Given the description of an element on the screen output the (x, y) to click on. 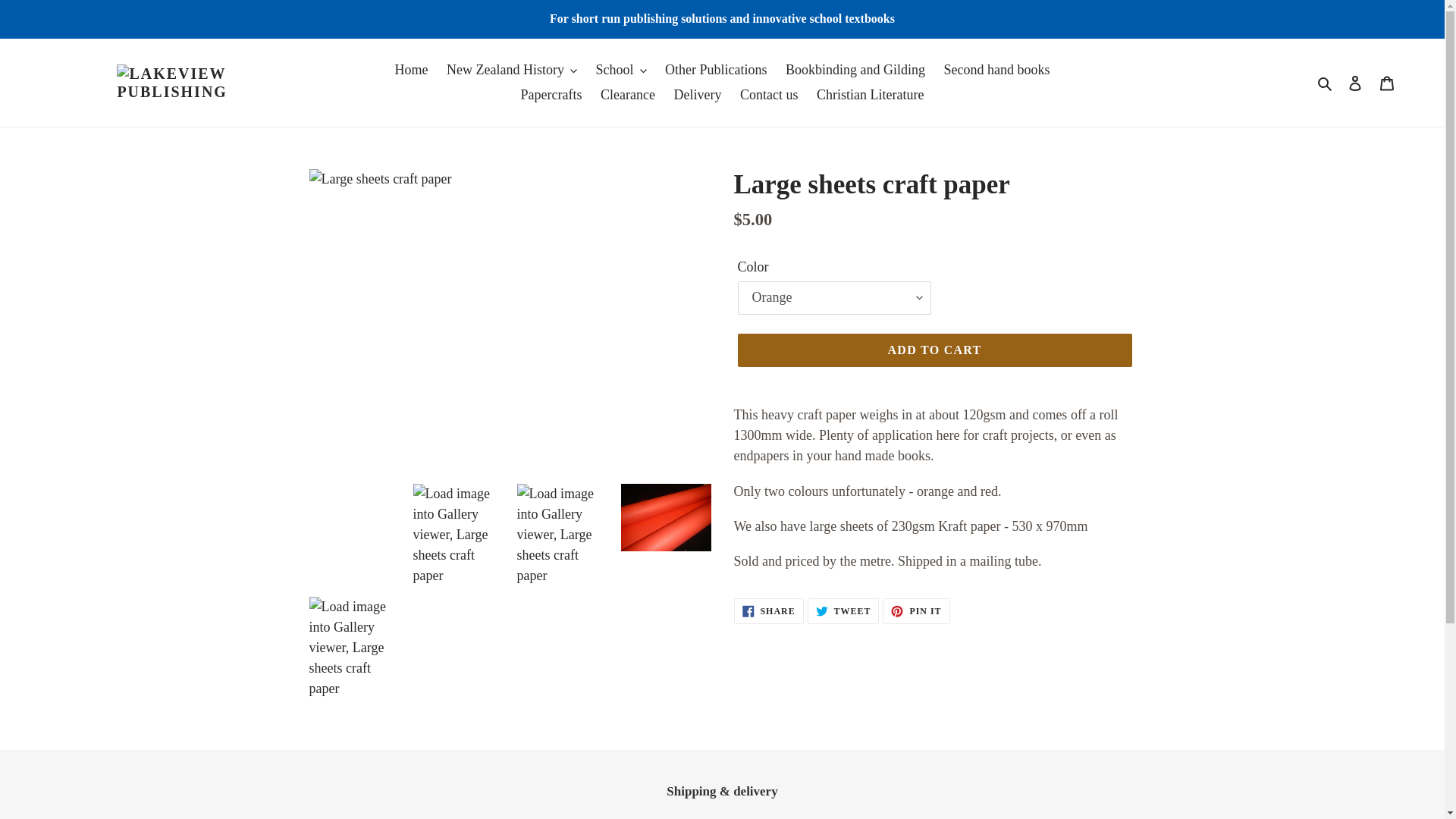
Papercrafts (551, 94)
Other Publications (716, 69)
Bookbinding and Gilding (855, 69)
Search (1326, 82)
Clearance (627, 94)
Cart (1387, 82)
New Zealand History (512, 69)
Delivery (697, 94)
Contact us (769, 94)
School (620, 69)
